Given the description of an element on the screen output the (x, y) to click on. 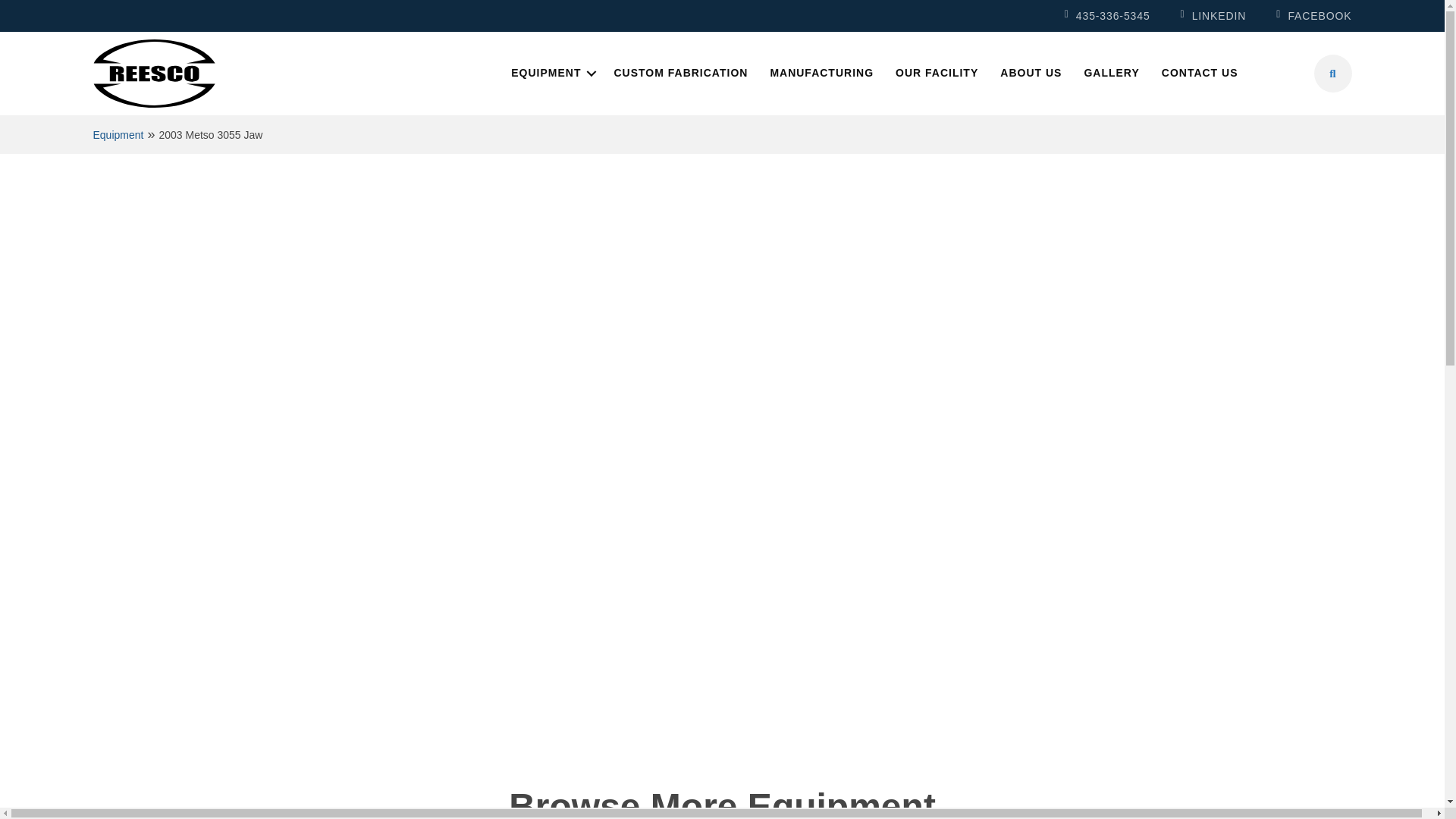
ABOUT US (1030, 73)
CUSTOM FABRICATION (680, 73)
LINKEDIN (1213, 15)
GALLERY (1111, 73)
Equipment (117, 135)
FACEBOOK (1313, 15)
MANUFACTURING (820, 73)
OUR FACILITY (936, 73)
435-336-5345 (1107, 15)
EQUIPMENT (551, 73)
CONTACT US (1200, 73)
Logo-Reesco-Black (153, 73)
